Given the description of an element on the screen output the (x, y) to click on. 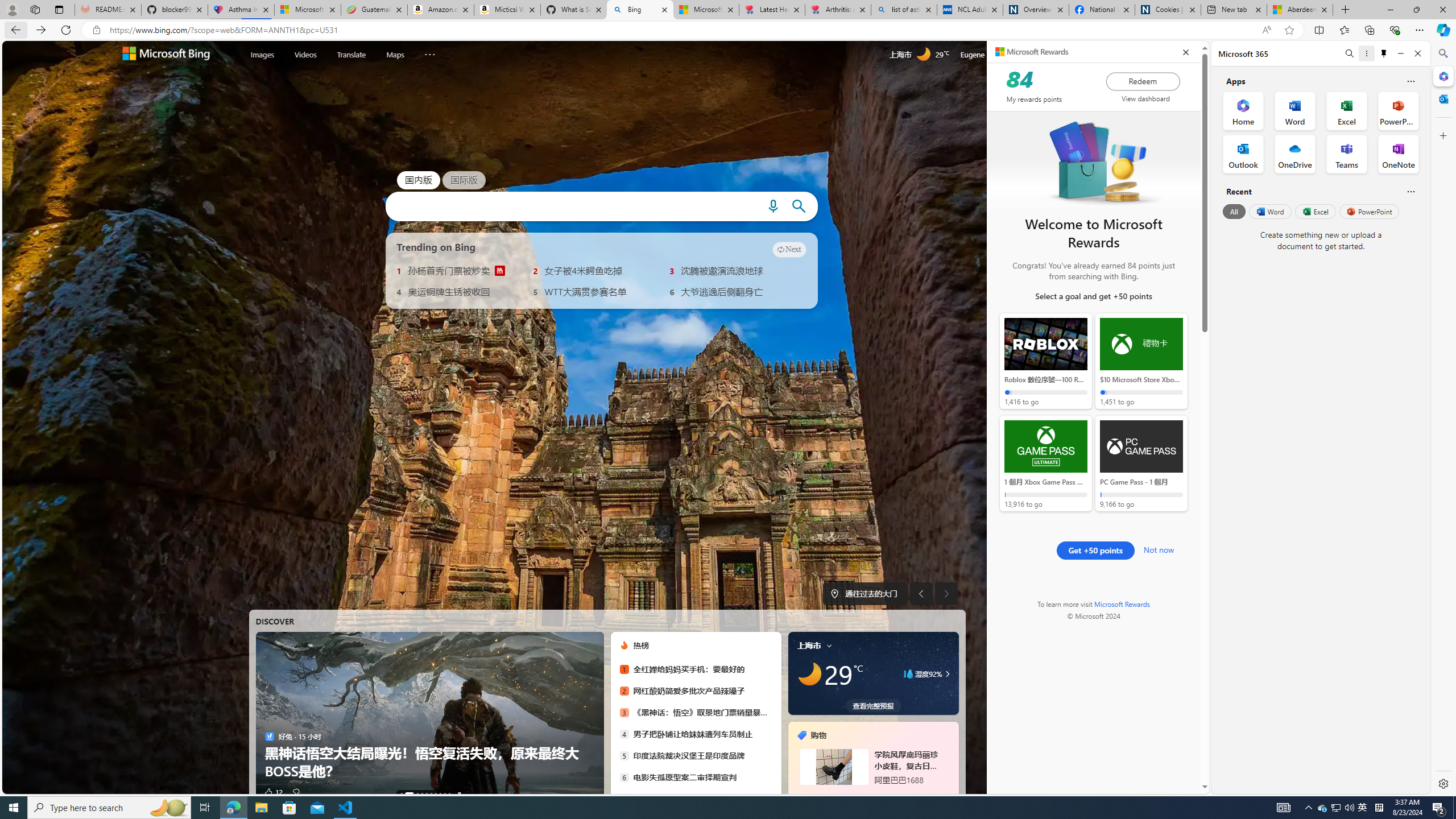
AutomationID: tab-0 (400, 793)
Videos (305, 54)
OneDrive Office App (1295, 154)
Aberdeen, Hong Kong SAR hourly forecast | Microsoft Weather (1300, 9)
Not now (1158, 548)
Redeem (1142, 81)
OneNote Office App (1398, 154)
Videos (305, 53)
AutomationID: tab-5 (431, 793)
